Given the description of an element on the screen output the (x, y) to click on. 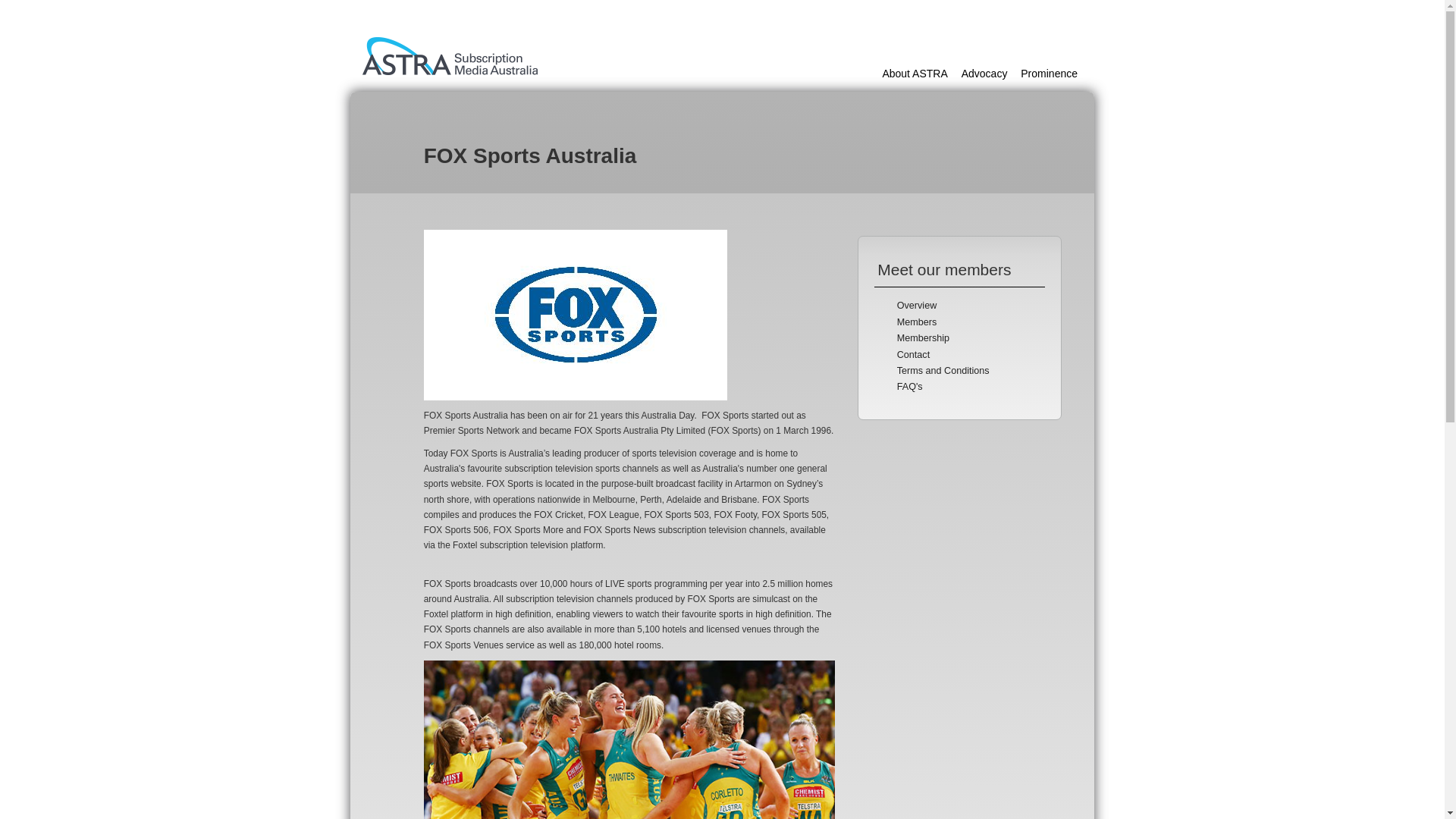
FAQ's (909, 386)
Members (916, 321)
About ASTRA (914, 73)
Prominence (1048, 73)
Contact (913, 354)
Advocacy (983, 73)
Terms and Conditions (943, 370)
Membership (922, 337)
Overview (916, 305)
